Given the description of an element on the screen output the (x, y) to click on. 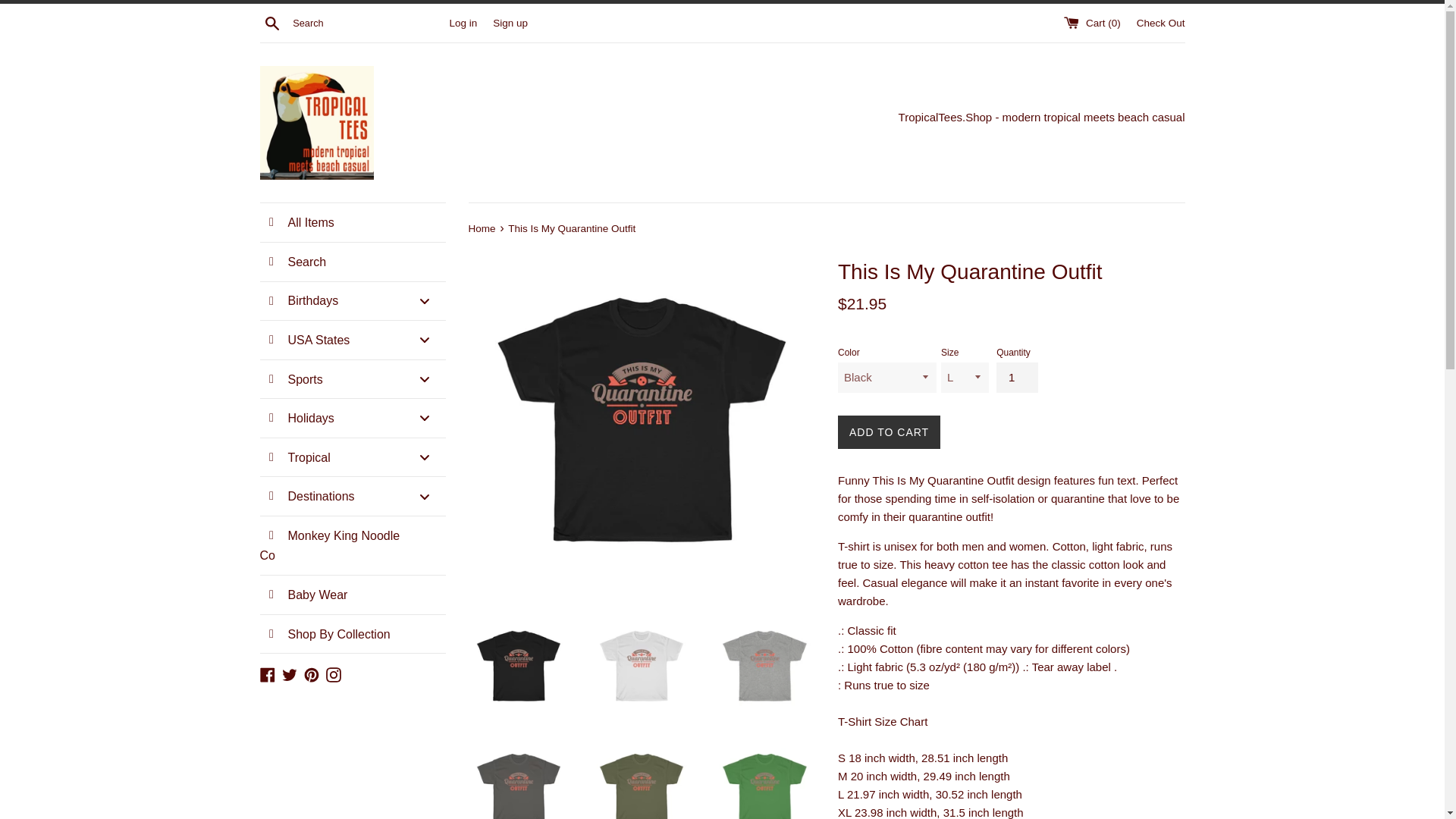
Toggle menu (423, 340)
Search (352, 261)
USA States (352, 340)
Sign up (510, 21)
Toggle menu (423, 300)
Log in (462, 21)
Check Out (1161, 21)
All Items (352, 222)
1 (1016, 377)
Search (271, 21)
